Given the description of an element on the screen output the (x, y) to click on. 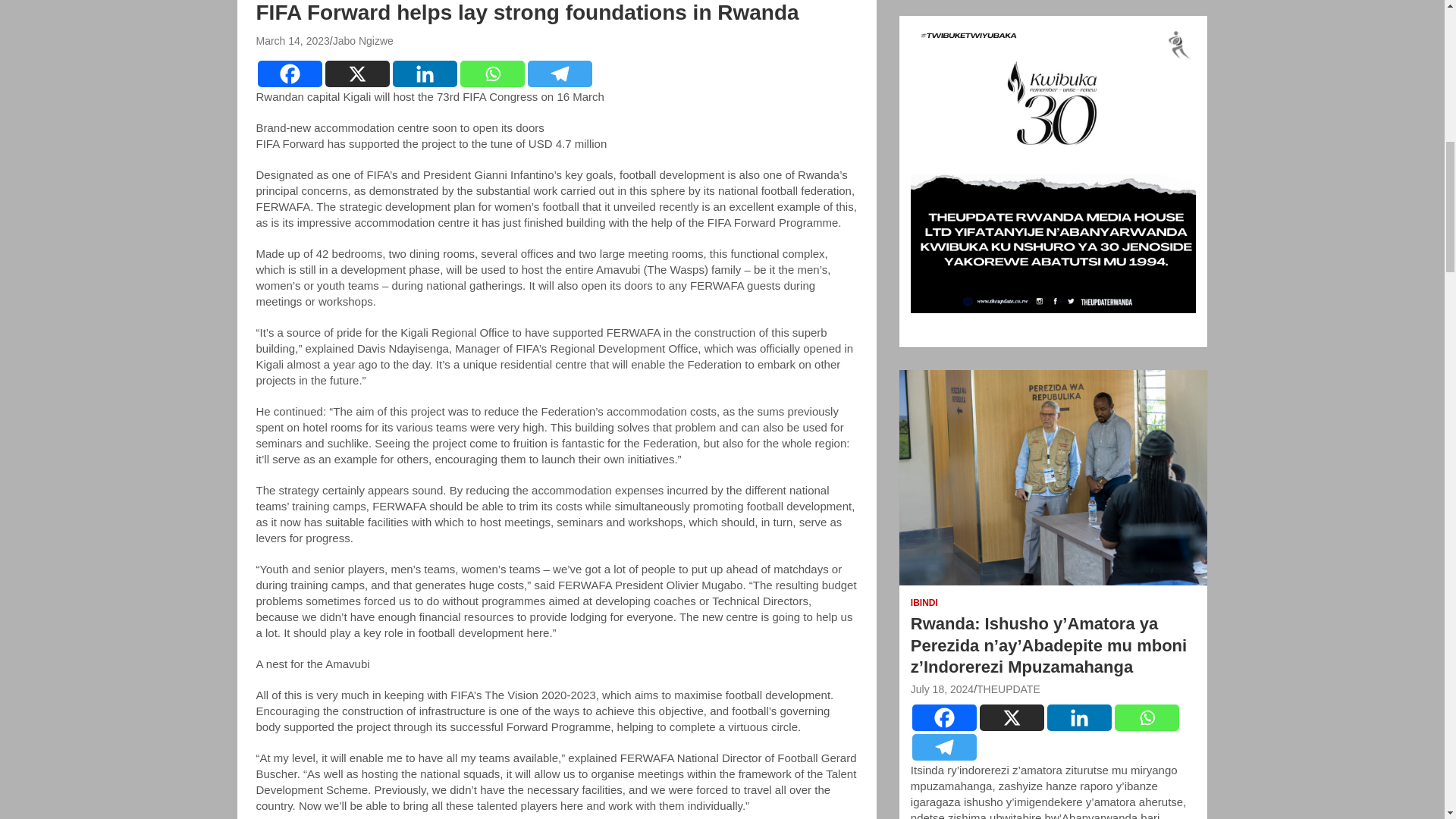
Whatsapp (1147, 717)
Facebook (289, 73)
Telegram (559, 73)
Linkedin (1079, 717)
Linkedin (425, 73)
Telegram (944, 746)
X (1011, 717)
Whatsapp (492, 73)
FIFA Forward helps lay strong foundations in Rwanda (293, 40)
X (356, 73)
Facebook (944, 717)
